Given the description of an element on the screen output the (x, y) to click on. 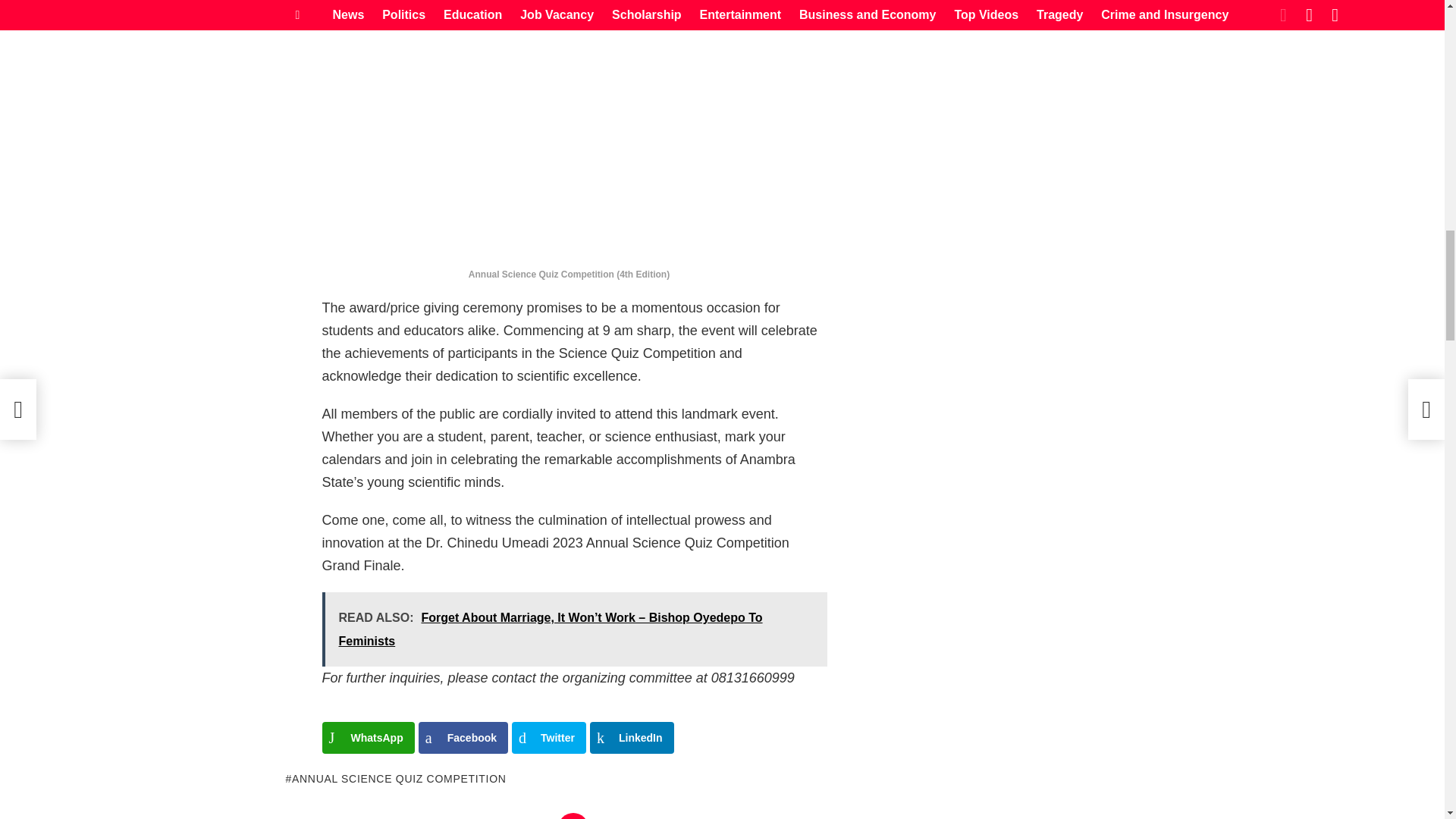
Share on Facebook (463, 737)
Share on Twitter (549, 737)
Share on LinkedIn (631, 737)
Share on WhatsApp (367, 737)
